Given the description of an element on the screen output the (x, y) to click on. 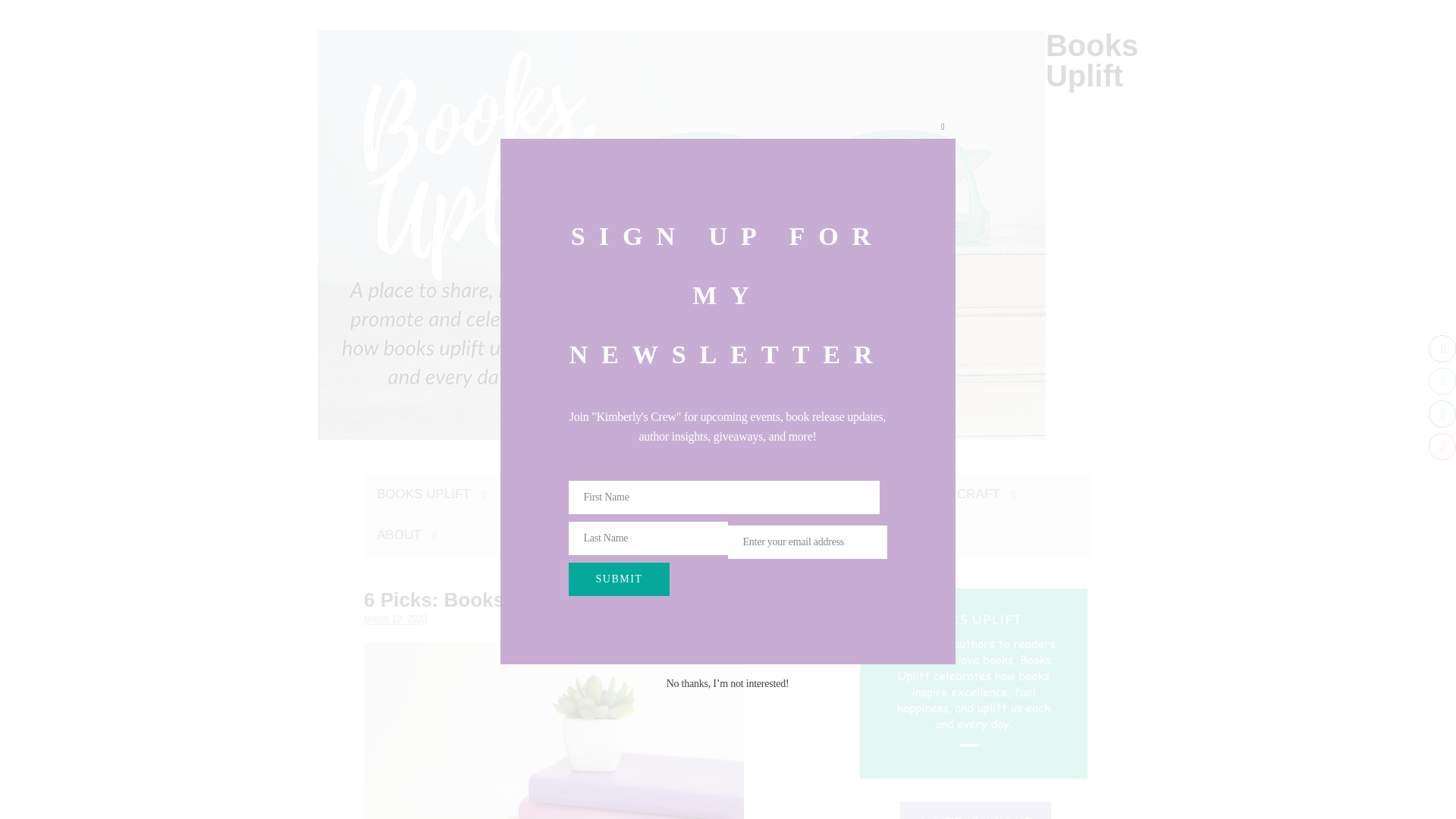
ABOUT (406, 535)
BOOKS 4 FUN (840, 494)
BOOK CRAFT (964, 494)
BOOKS 4 SUCCESS (693, 494)
Books Uplift (1091, 60)
BOOKS UPLIFT (431, 494)
BOOK TALK (555, 494)
